Given the description of an element on the screen output the (x, y) to click on. 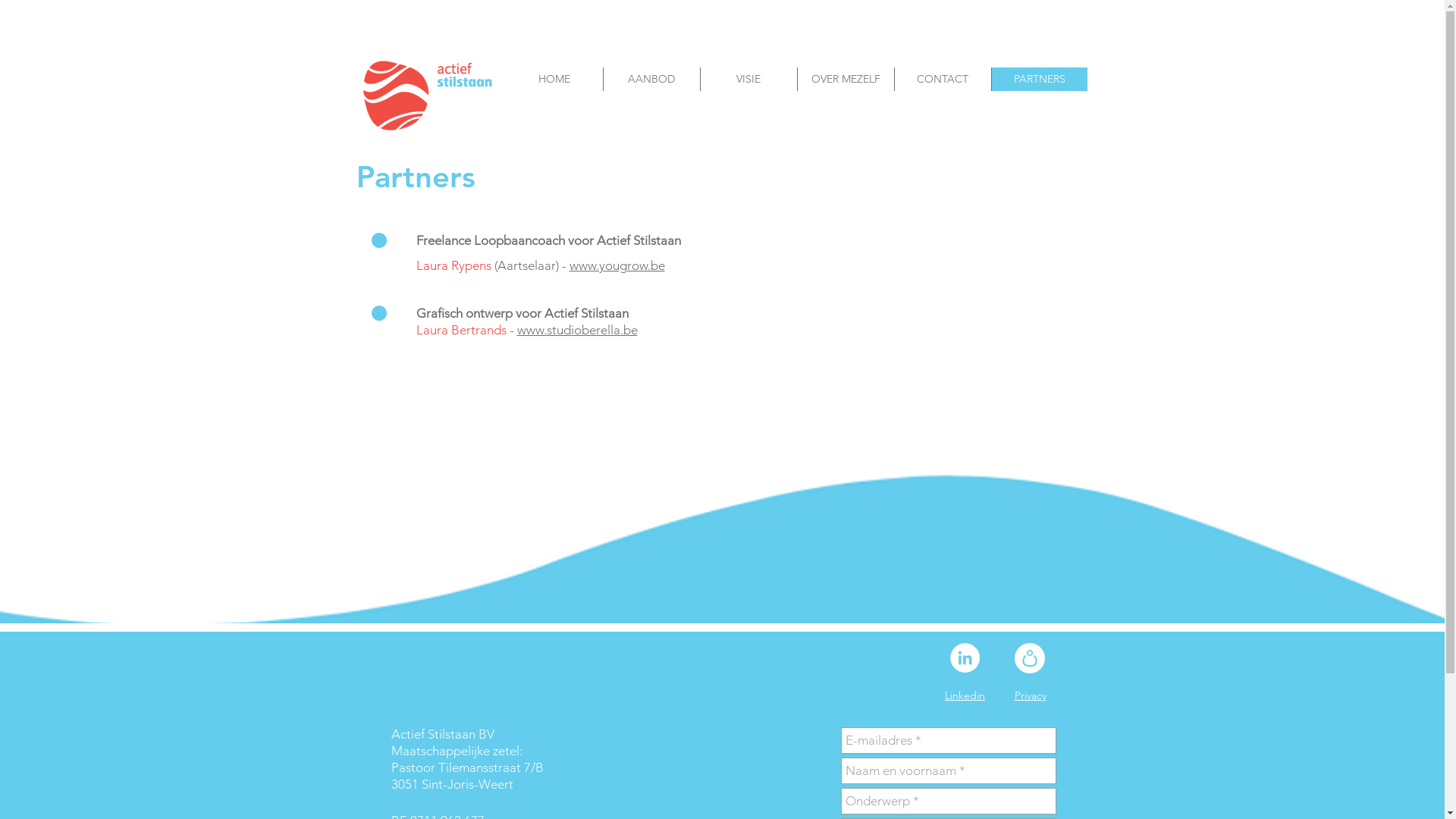
OVER MEZELF Element type: text (844, 79)
www.yougrow.be Element type: text (616, 265)
PARTNERS Element type: text (1038, 79)
www.studioberella.be Element type: text (577, 329)
Privacy Element type: text (1030, 695)
Linkedin Element type: text (964, 695)
HOME Element type: text (553, 79)
CONTACT Element type: text (941, 79)
VISIE Element type: text (747, 79)
